Given the description of an element on the screen output the (x, y) to click on. 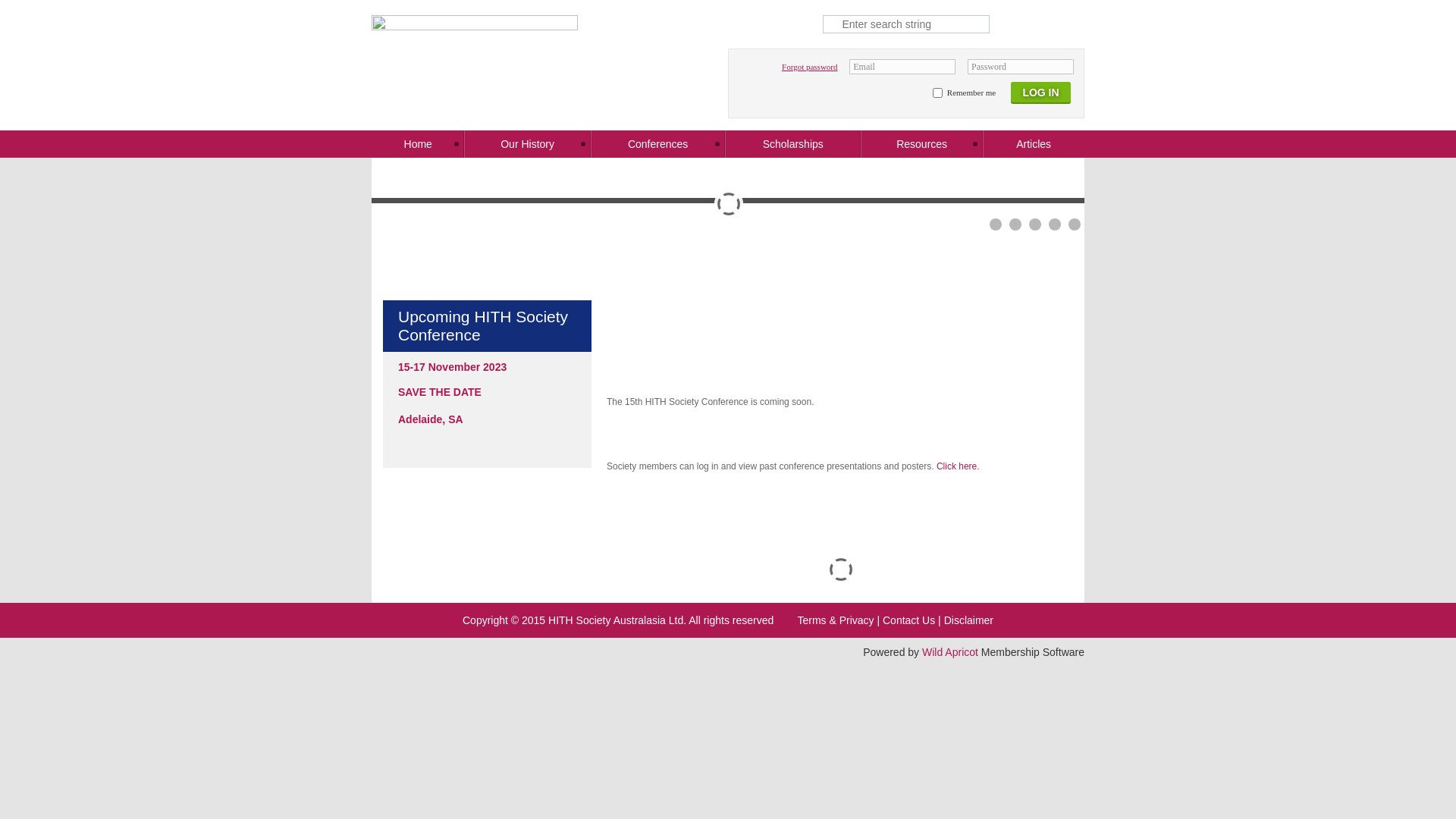
Contact Us Element type: text (908, 620)
Terms & Privacy Element type: text (835, 620)
Upcoming HITH Society Conference Element type: text (487, 325)
Scholarships Element type: text (792, 143)
Resources Element type: text (921, 143)
Disclaimer Element type: text (968, 620)
Articles Element type: text (1033, 143)
Log in Element type: text (1040, 95)
Home Element type: text (417, 143)
Conferences Element type: text (657, 143)
Wild Apricot Element type: text (950, 652)
Our History Element type: text (526, 143)
Click here. Element type: text (957, 466)
Forgot password Element type: text (809, 66)
